Given the description of an element on the screen output the (x, y) to click on. 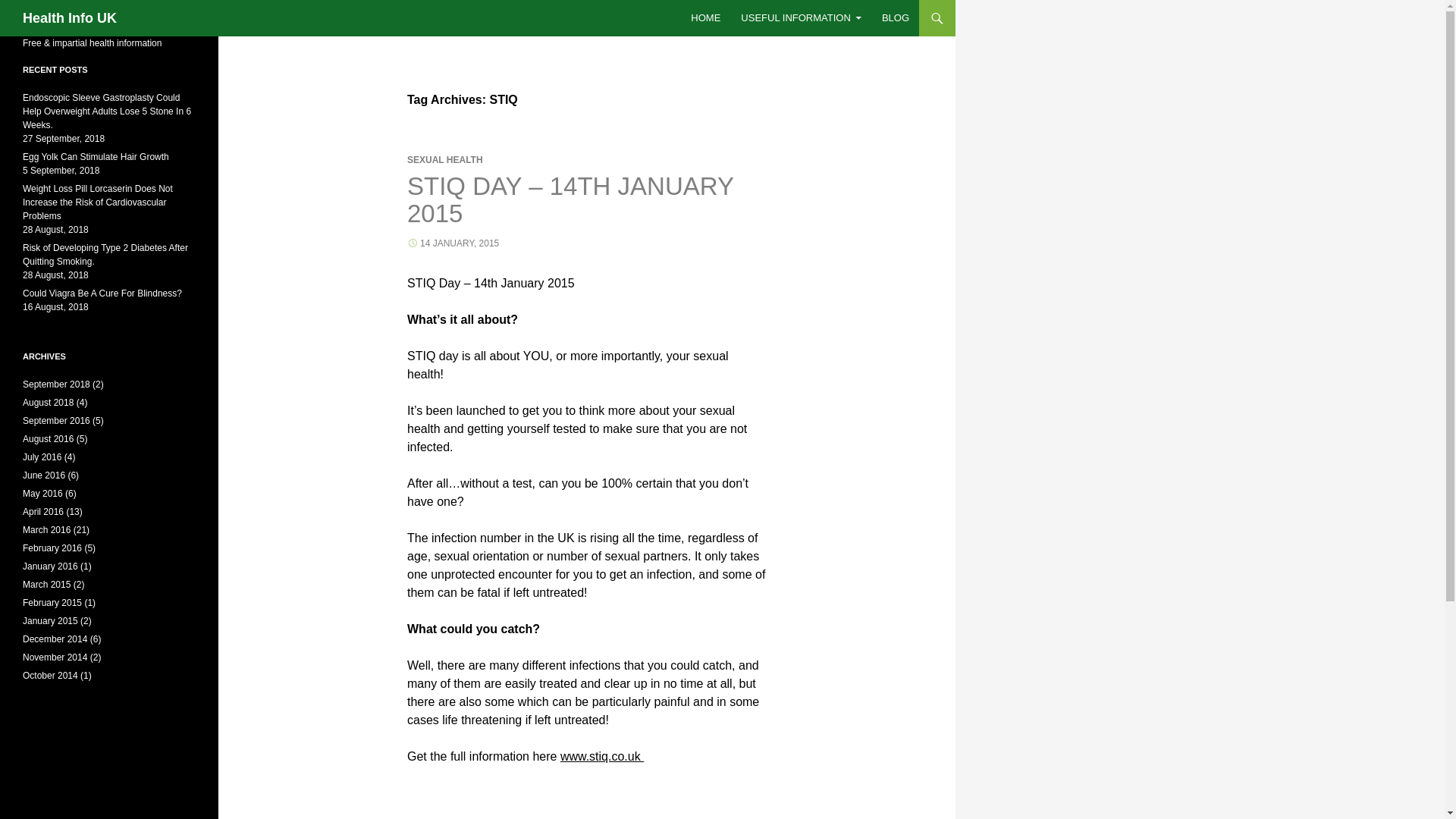
SEXUAL HEALTH (445, 159)
HOME (705, 18)
Health Info UK (69, 18)
www.stiq.co.uk (601, 756)
USEFUL INFORMATION (800, 18)
BLOG (895, 18)
